Given the description of an element on the screen output the (x, y) to click on. 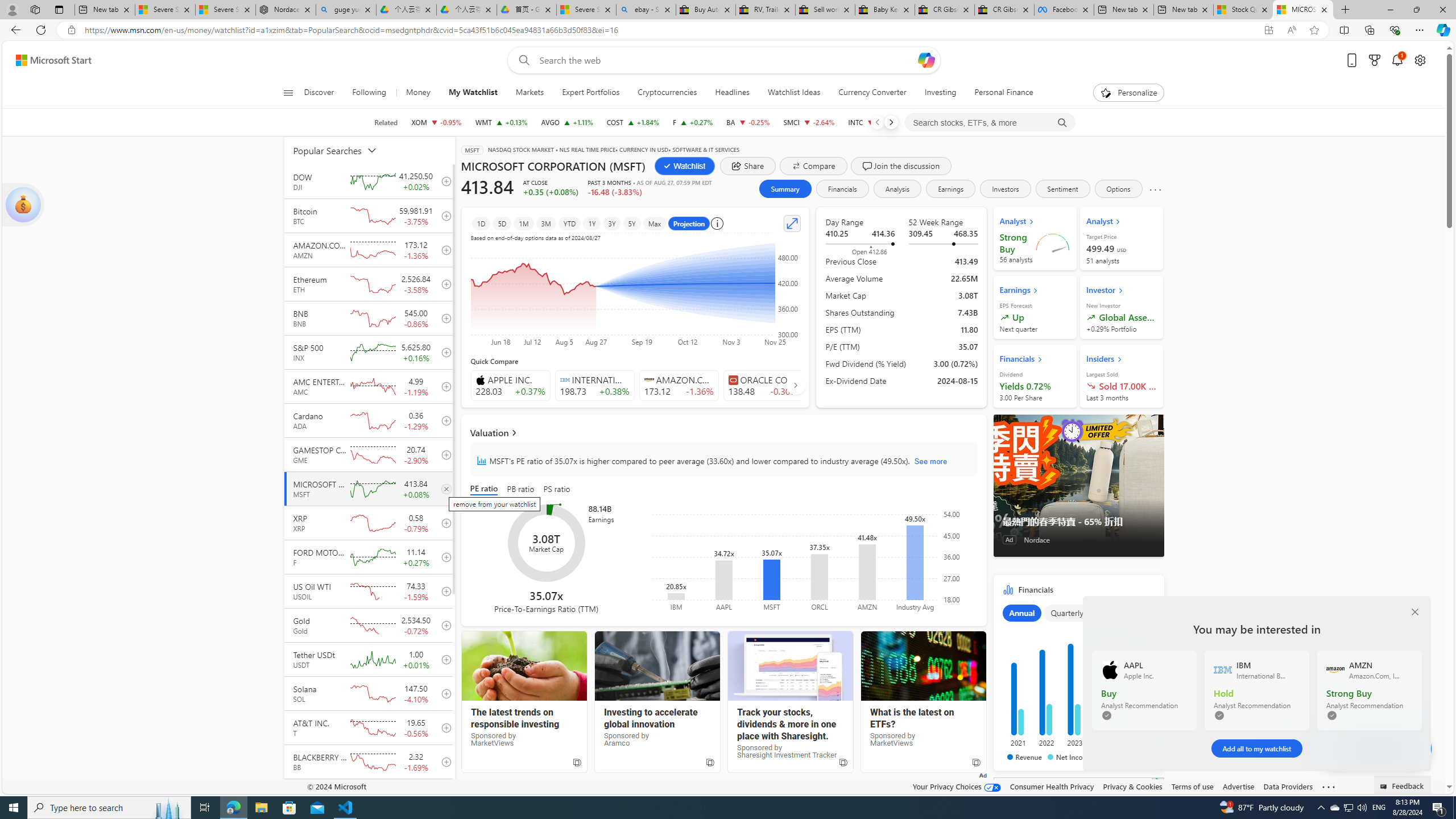
Aramco (657, 666)
Currency Converter (872, 92)
Investors (1004, 188)
Data Providers (1288, 786)
share dialog (748, 166)
Cryptocurrencies (667, 92)
Cryptocurrencies (667, 92)
